Given the description of an element on the screen output the (x, y) to click on. 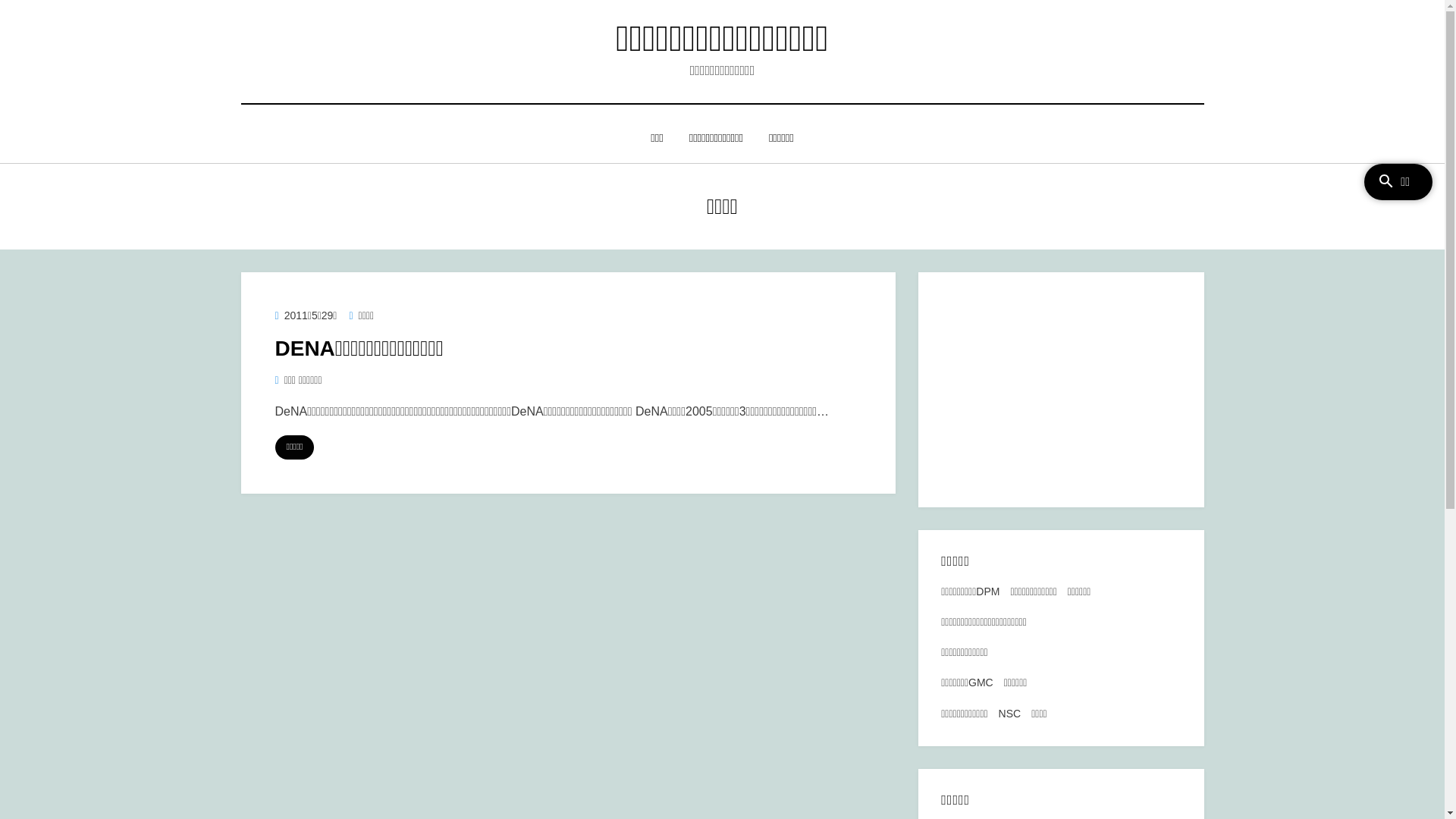
Advertisement Element type: hover (1060, 389)
